Given the description of an element on the screen output the (x, y) to click on. 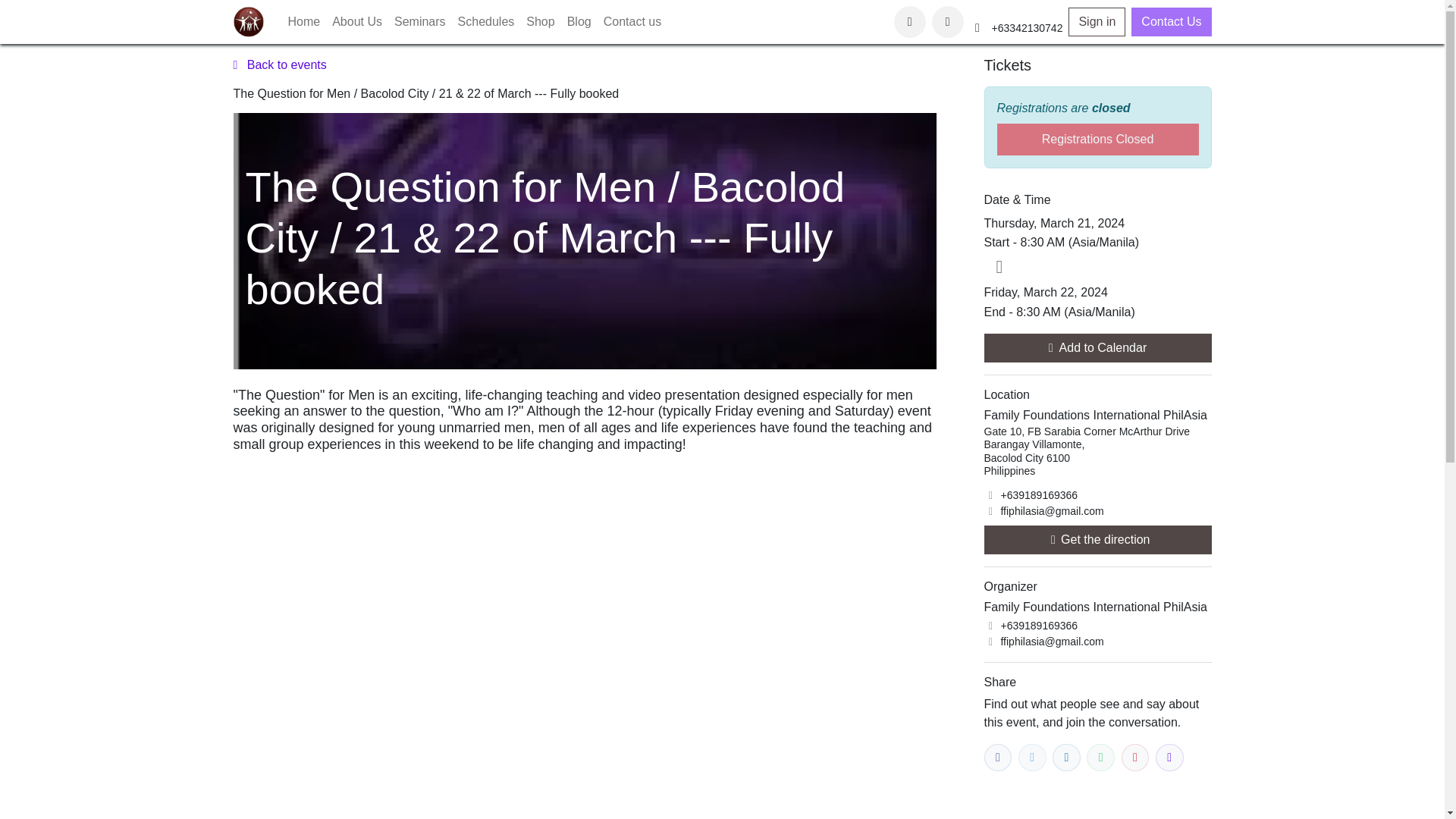
Add to Calendar (1097, 347)
Back to events (279, 64)
Schedules (486, 21)
About Us (357, 21)
Search (947, 21)
Get the direction (1097, 539)
Blog (578, 21)
Shop (539, 21)
Contact Us (1171, 21)
Sign in (1096, 21)
